Given the description of an element on the screen output the (x, y) to click on. 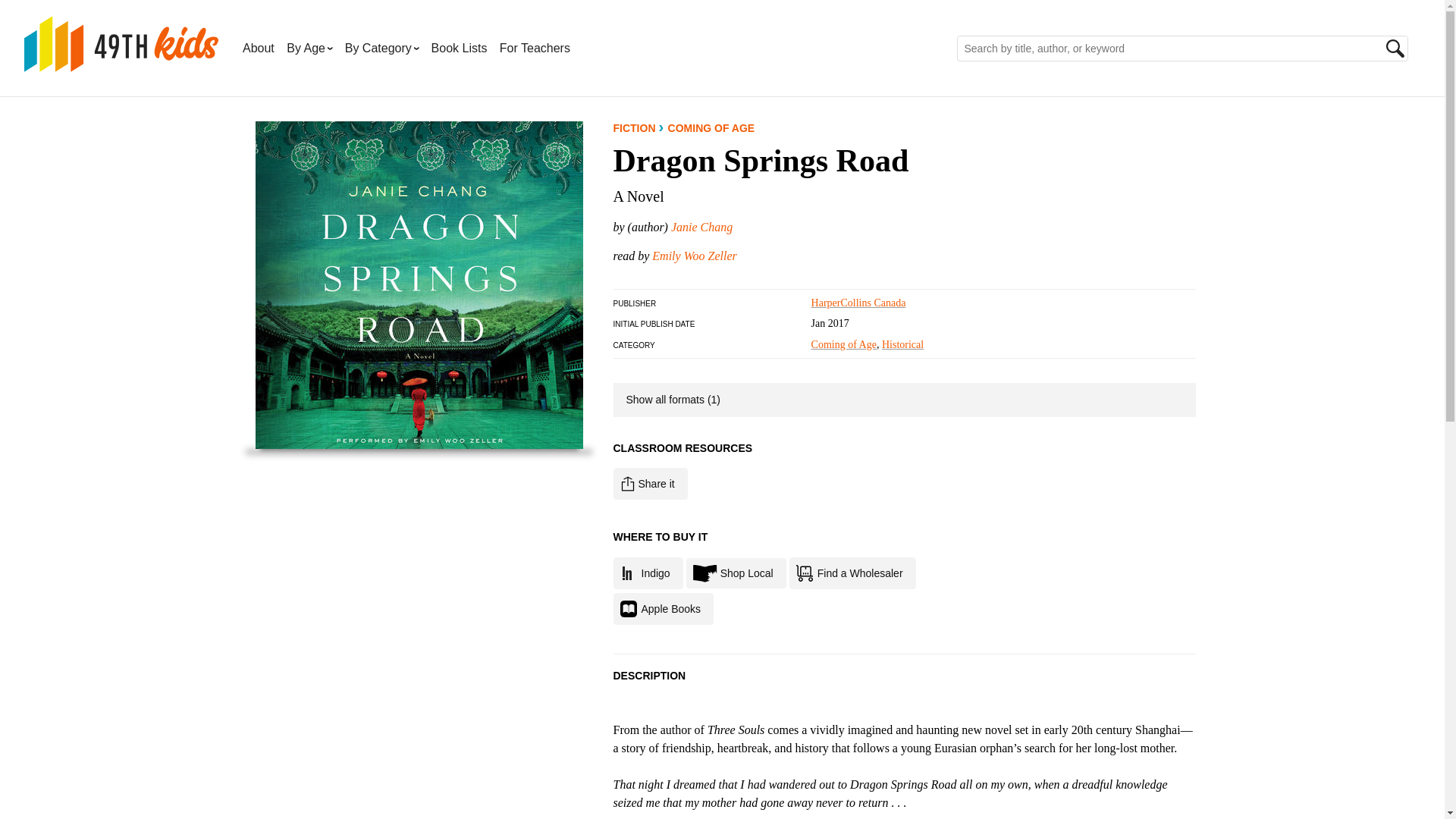
49th Kids: Thousands of Canadian-authored kids and YA books (121, 43)
View HarperCollins Canada books (857, 302)
49th Kids (121, 62)
View more Fiction books (633, 128)
49th Kids: Thousands of Canadian-authored kids and YA books (121, 62)
Coming of Age (843, 344)
Search (1395, 48)
Buy at Apple Books (662, 608)
HarperCollins Canada (857, 302)
Find an independent bookseller near you (735, 572)
Share it (649, 483)
View more Janie Chang books (701, 226)
View more Coming of Age books (843, 344)
on (622, 390)
